Given the description of an element on the screen output the (x, y) to click on. 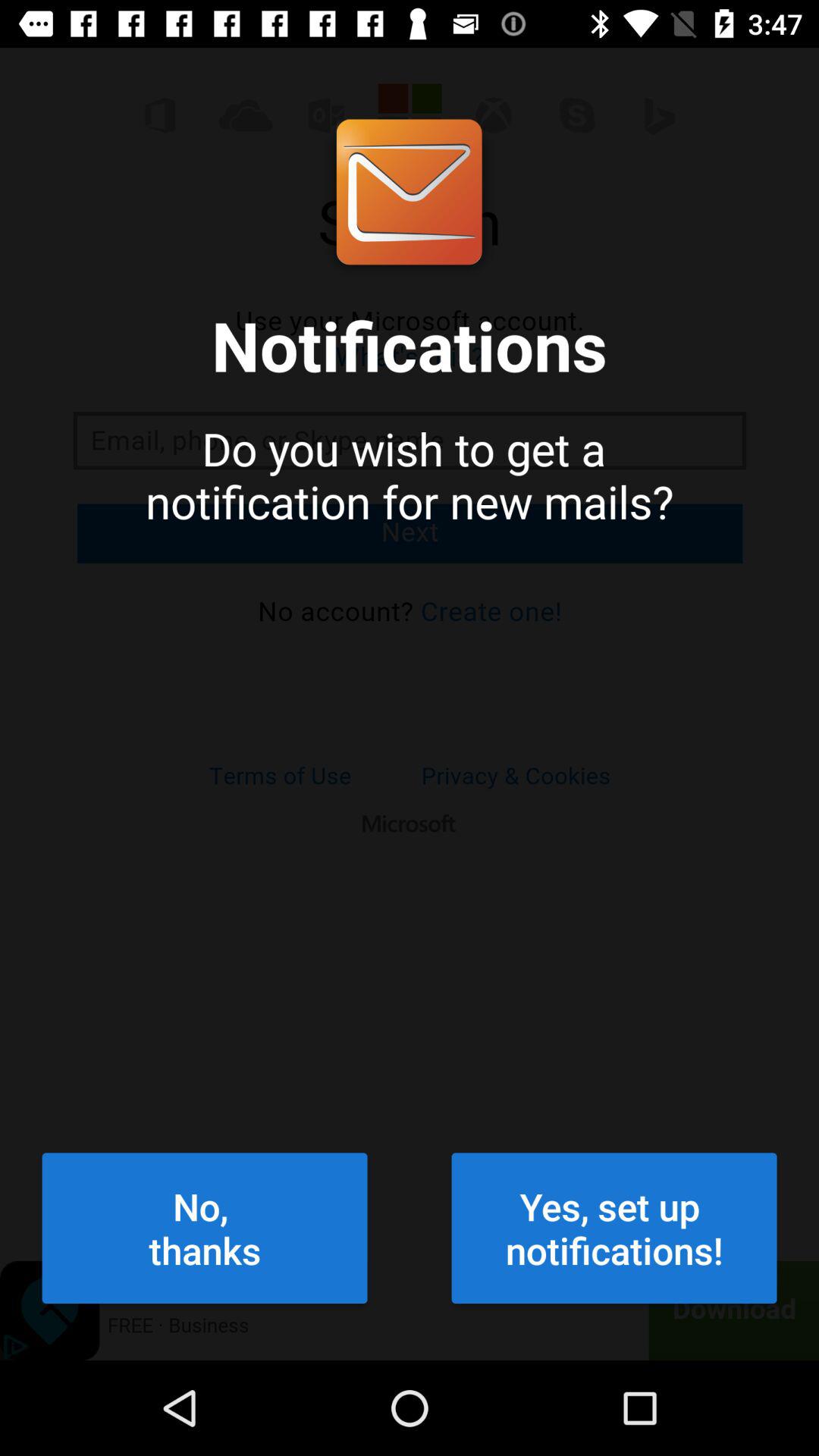
turn on the item at the bottom left corner (204, 1227)
